Given the description of an element on the screen output the (x, y) to click on. 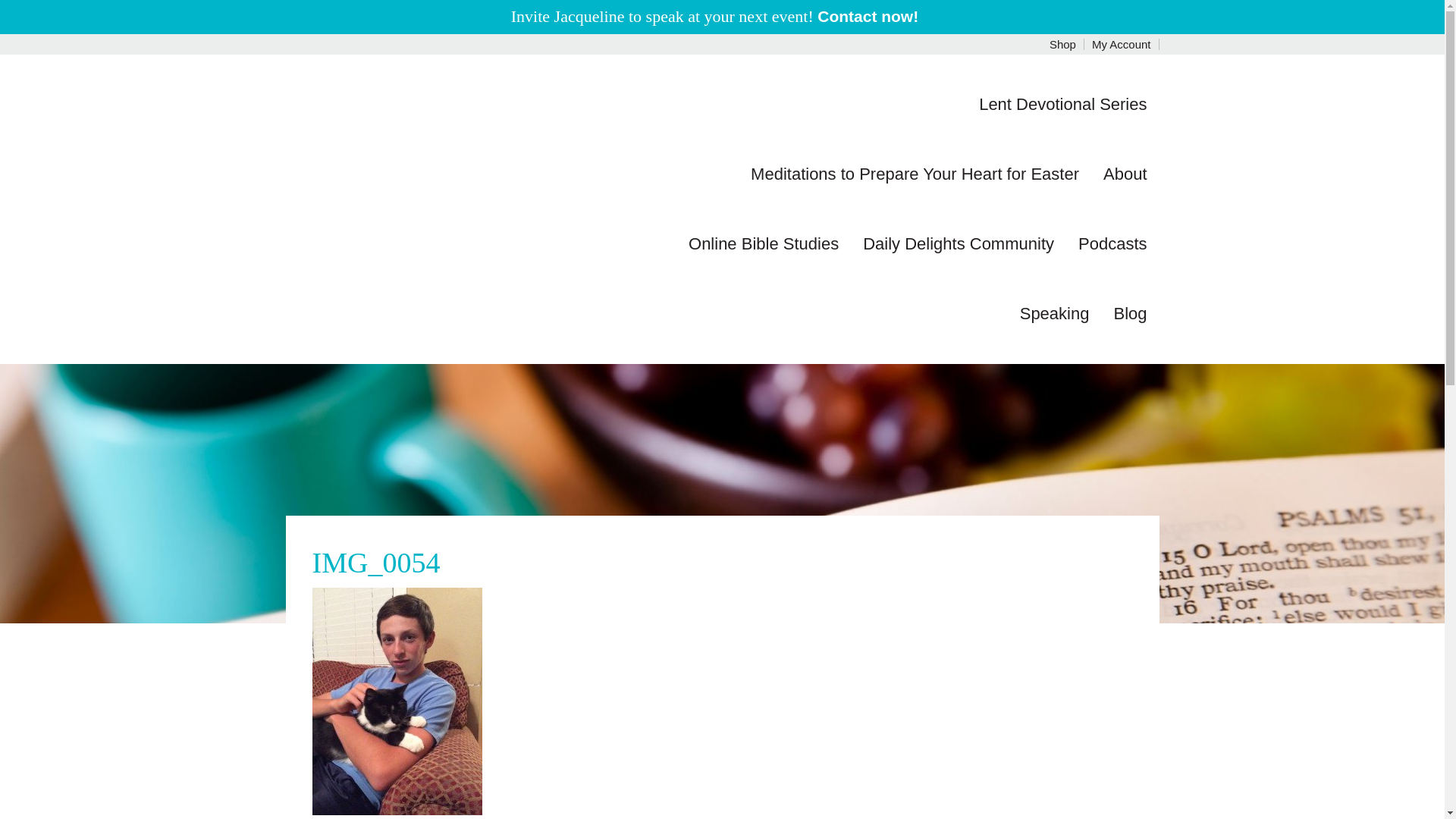
About (1124, 174)
JACQUELINE (451, 116)
Online Bible Studies (763, 244)
Shop (1063, 43)
Contact now! (874, 16)
Jacqueline Heider (451, 116)
Podcasts (1111, 244)
Speaking (1054, 313)
My Account (1121, 43)
Meditations to Prepare Your Heart for Easter (914, 174)
Daily Delights Community (957, 244)
Lent Devotional Series (1062, 104)
